Given the description of an element on the screen output the (x, y) to click on. 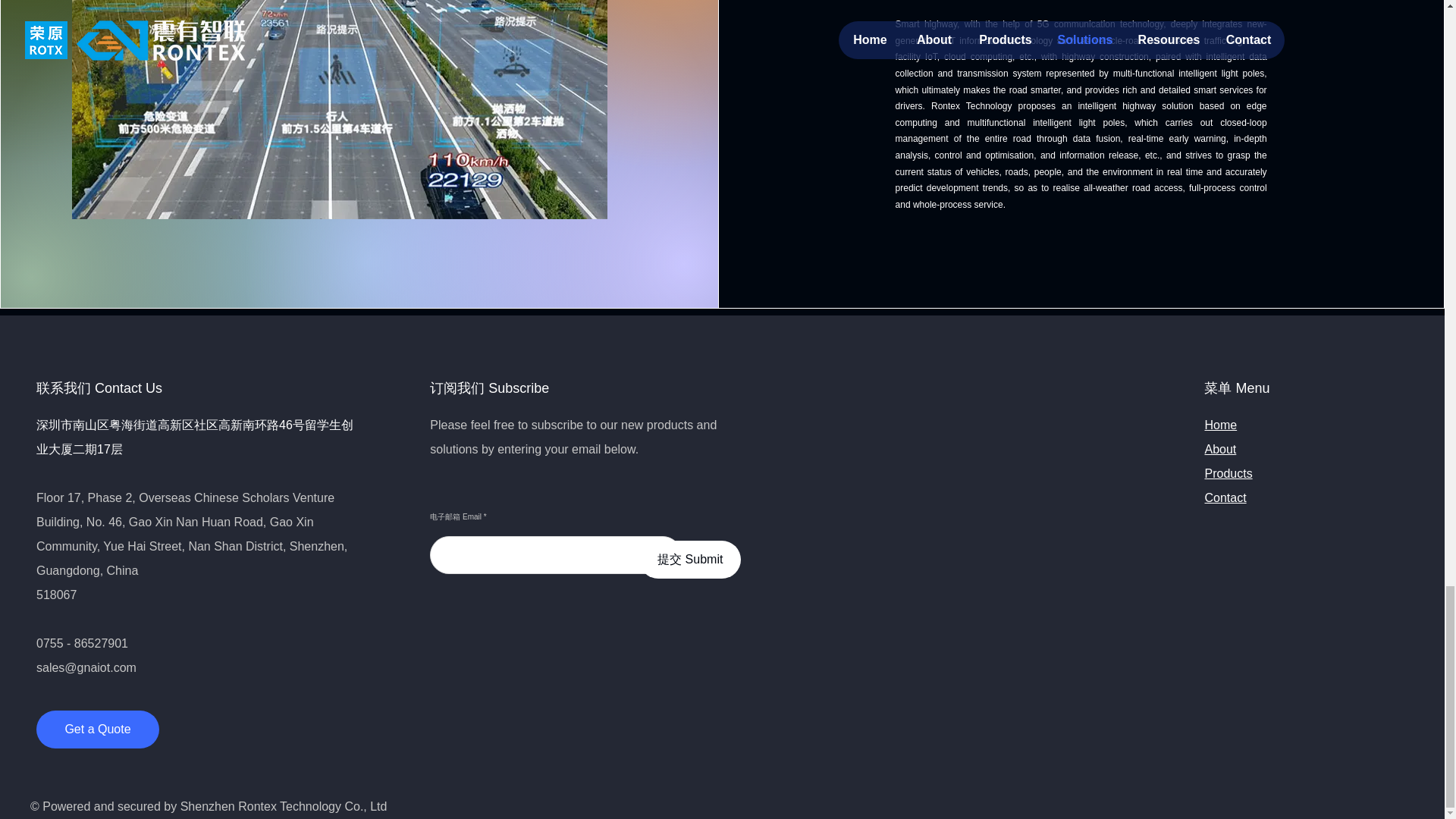
About (1220, 449)
Contact (1225, 497)
Products (1228, 472)
Get a Quote (97, 729)
Home (1220, 424)
